Given the description of an element on the screen output the (x, y) to click on. 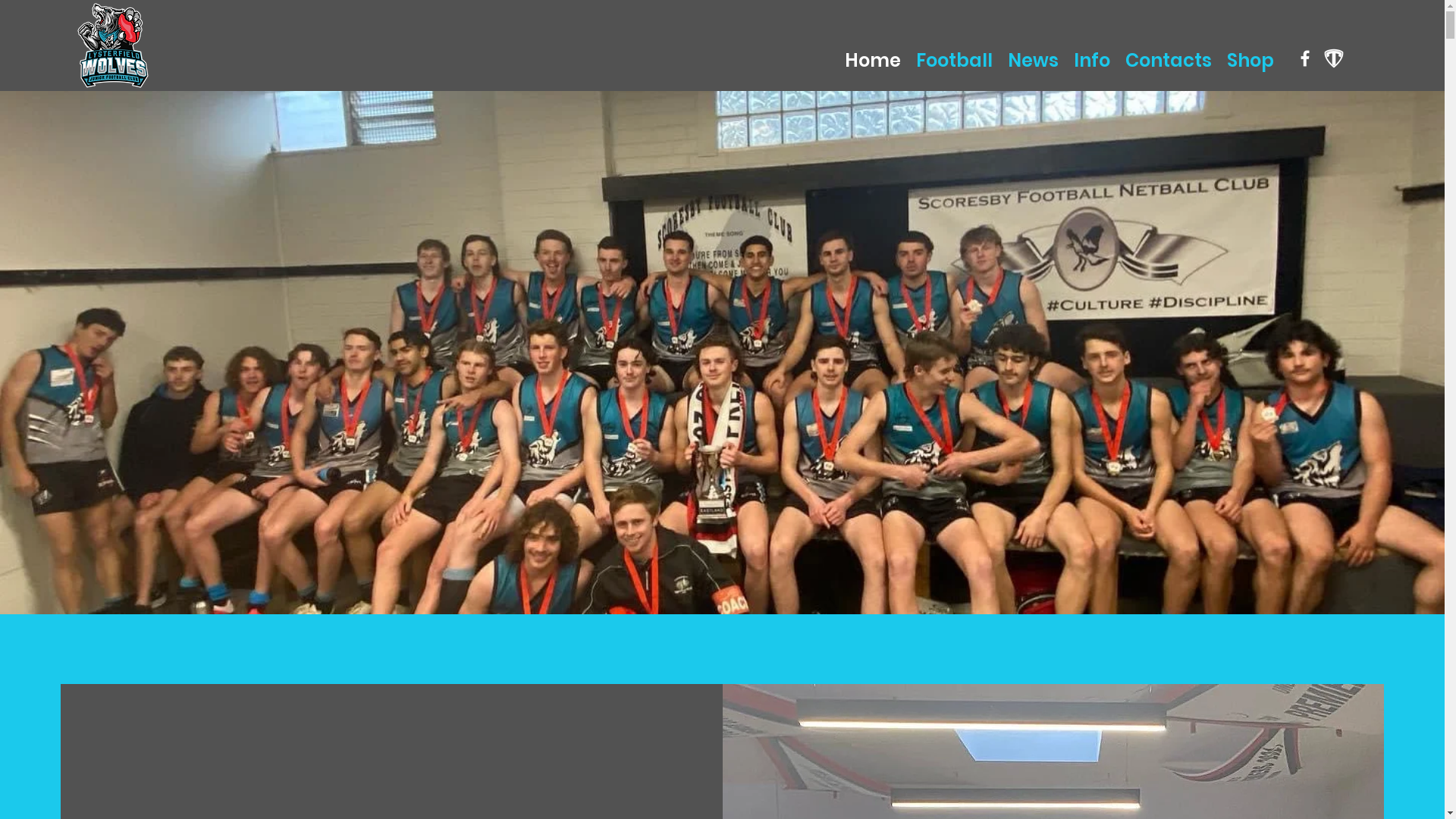
Shop Element type: text (1250, 58)
News Element type: text (1033, 58)
Home Element type: text (872, 58)
